Given the description of an element on the screen output the (x, y) to click on. 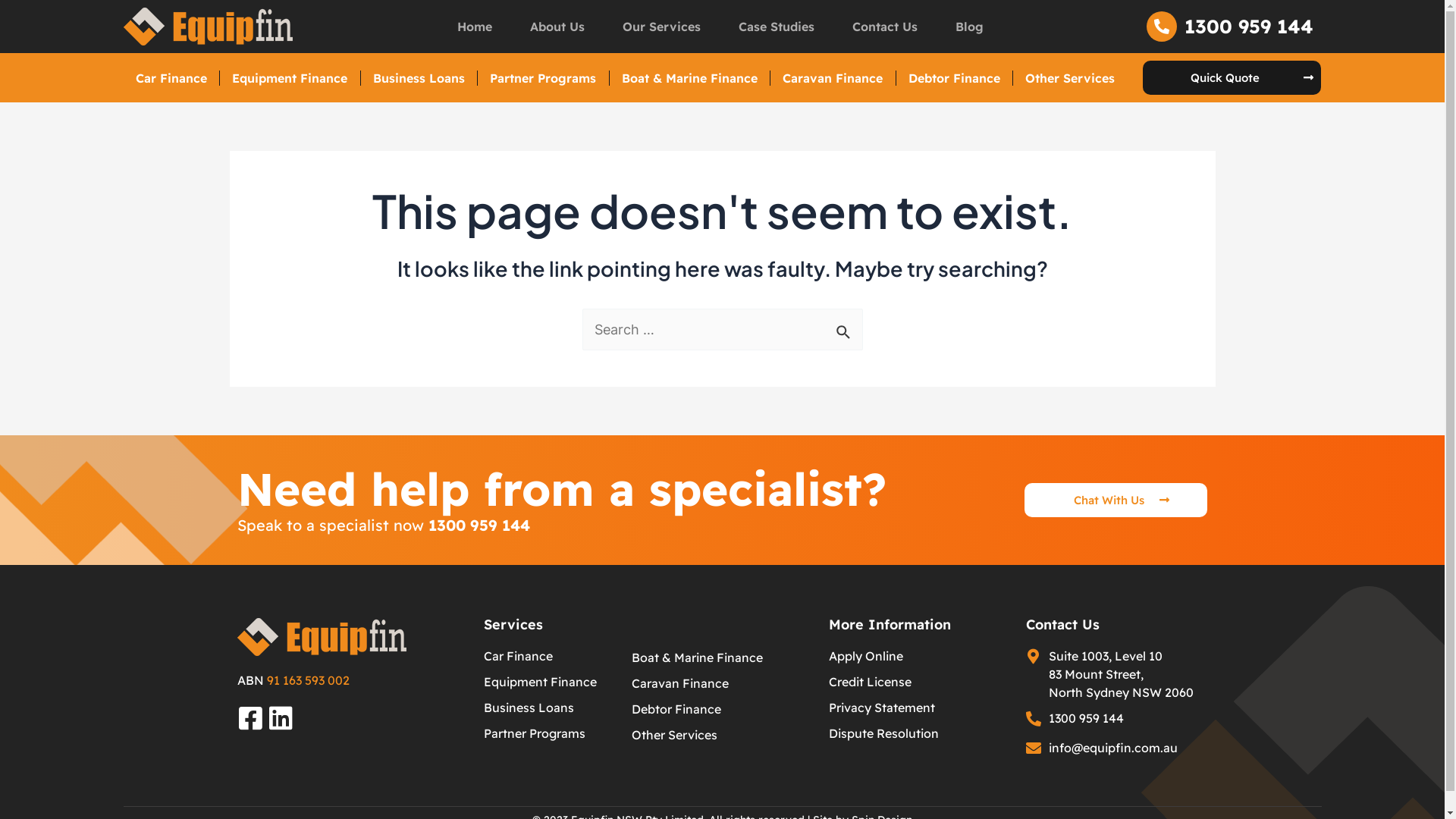
Contact Us Element type: text (884, 26)
Home Element type: text (474, 26)
Linkedin Element type: text (279, 717)
About Us Element type: text (557, 26)
Our Services Element type: text (661, 26)
Case Studies Element type: text (776, 26)
Boat & Marine Finance Element type: text (721, 657)
Partner Programs Element type: text (534, 733)
Partner Programs Element type: text (542, 76)
Chat With Us Element type: text (1115, 500)
Blog Element type: text (969, 26)
Caravan Finance Element type: text (832, 76)
Facebook-square Element type: text (249, 717)
Equipment Finance Element type: text (289, 76)
Other Services Element type: text (1070, 76)
Business Loans Element type: text (528, 707)
Apply Online Element type: text (865, 655)
Credit License Element type: text (869, 681)
Debtor Finance Element type: text (954, 76)
Dispute Resolution Element type: text (883, 733)
Privacy Statement Element type: text (881, 707)
Quick Quote Element type: text (1231, 77)
Debtor Finance Element type: text (721, 708)
Equipment Finance Element type: text (539, 681)
91 163 593 002 Element type: text (307, 679)
Other Services Element type: text (721, 734)
Car Finance Element type: text (170, 76)
Car Finance Element type: text (517, 655)
Business Loans Element type: text (418, 76)
Caravan Finance Element type: text (721, 683)
Boat & Marine Finance Element type: text (689, 76)
Search Element type: text (845, 325)
